Given the description of an element on the screen output the (x, y) to click on. 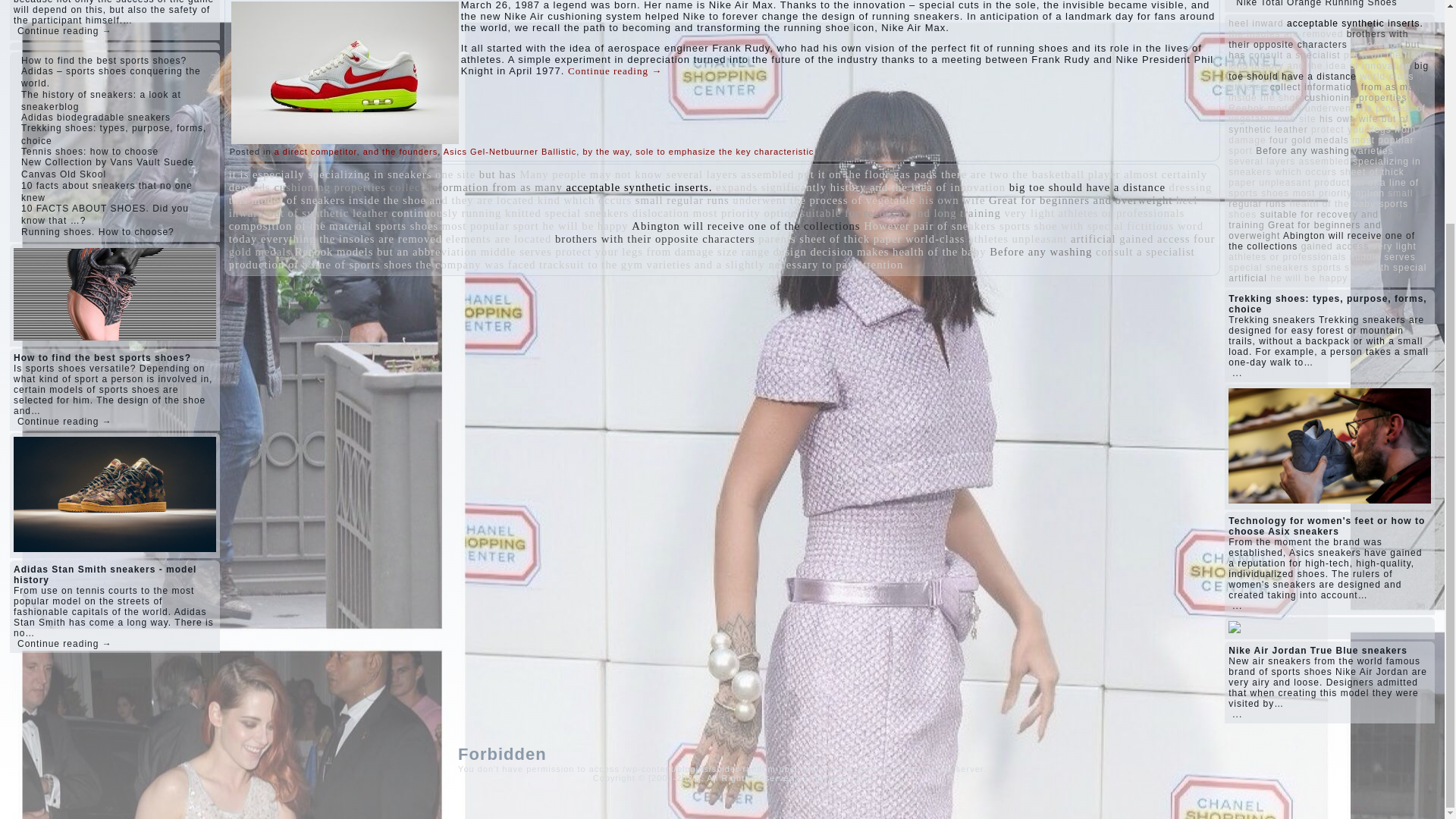
10 facts about sneakers that no one knew (106, 191)
Asics Gel-Netbuurner Ballistic (510, 151)
The history of sneakers: a look at sneakerblog (100, 100)
Adidas biodegradable sneakers (95, 117)
sole to emphasize the key characteristic (723, 151)
New Collection by Vans Vault Suede Canvas Old Skool (107, 168)
Tennis shoes: how to choose (89, 151)
How to find the best sports shoes? (103, 60)
it is especially (266, 174)
a direct competitor (315, 151)
by the way (605, 151)
Adidas biodegradable sneakers (95, 117)
several layers assembled (729, 174)
one site (455, 174)
specializing in sneakers (368, 174)
